Given the description of an element on the screen output the (x, y) to click on. 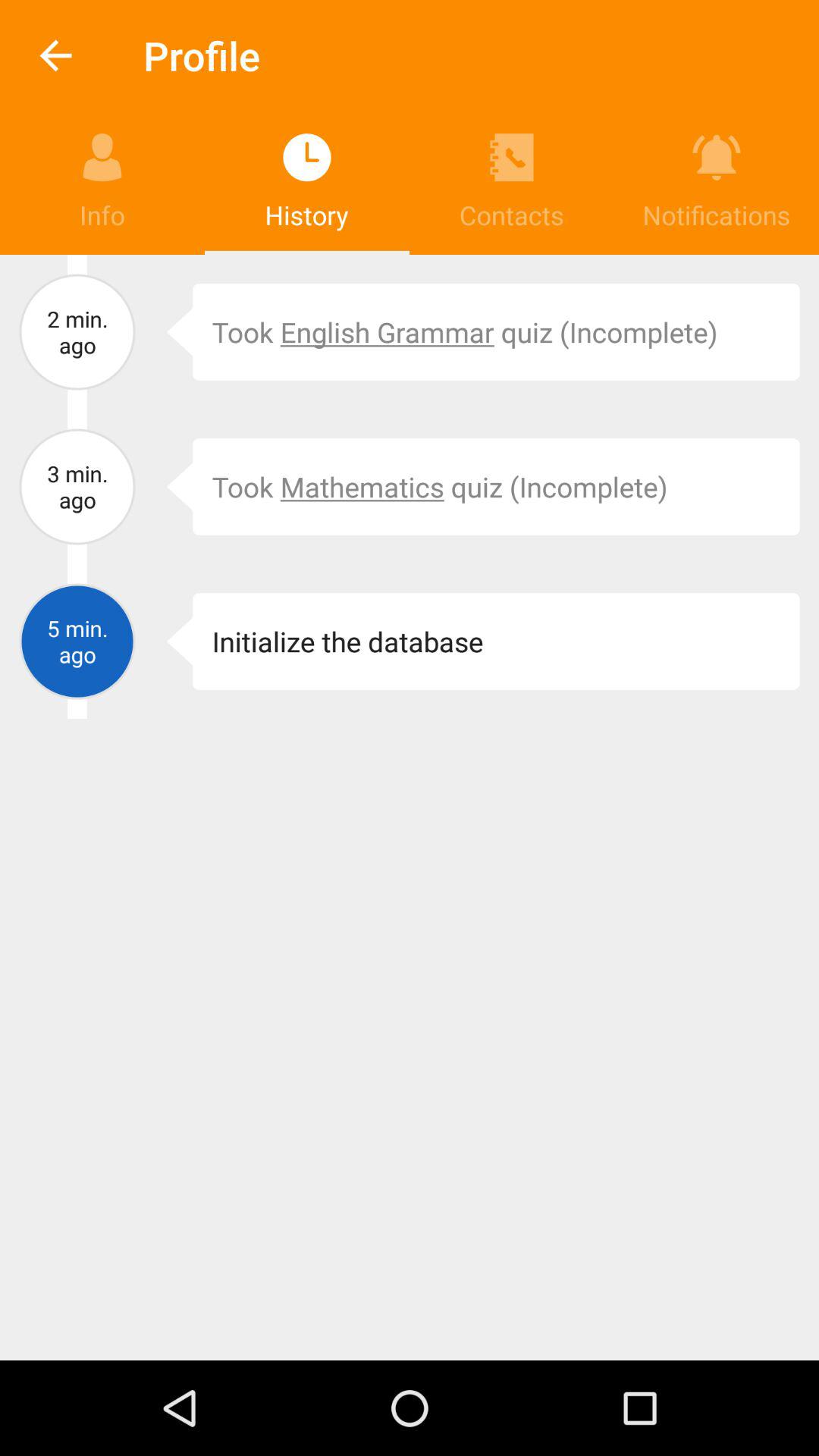
launch the initialize the database app (495, 641)
